Given the description of an element on the screen output the (x, y) to click on. 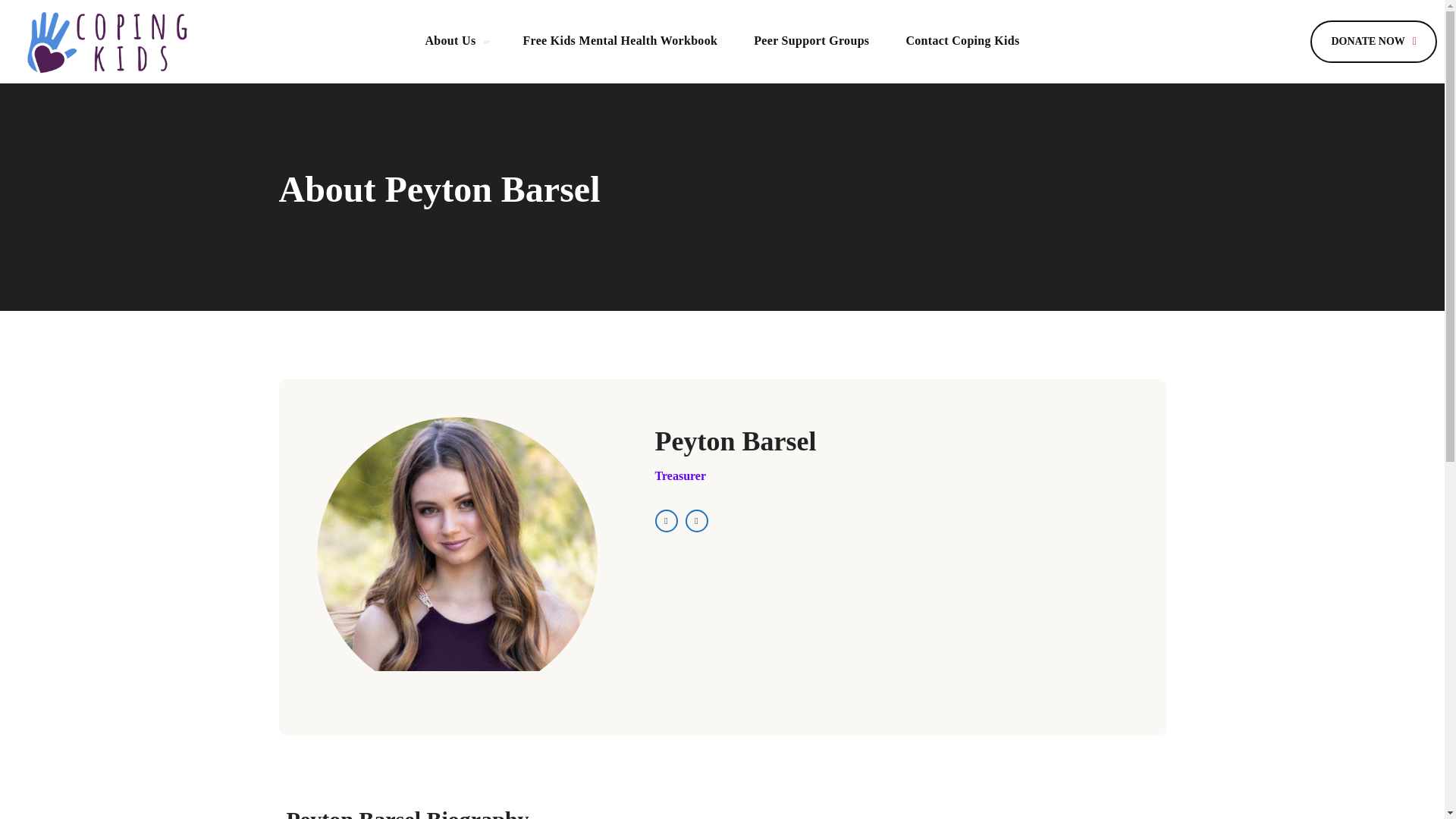
Free Kids Mental Health Workbook (619, 41)
Peer Support Groups (810, 41)
Contact Coping Kids (961, 41)
Search (1232, 40)
DONATE NOW (1372, 41)
About Us (454, 41)
